Given the description of an element on the screen output the (x, y) to click on. 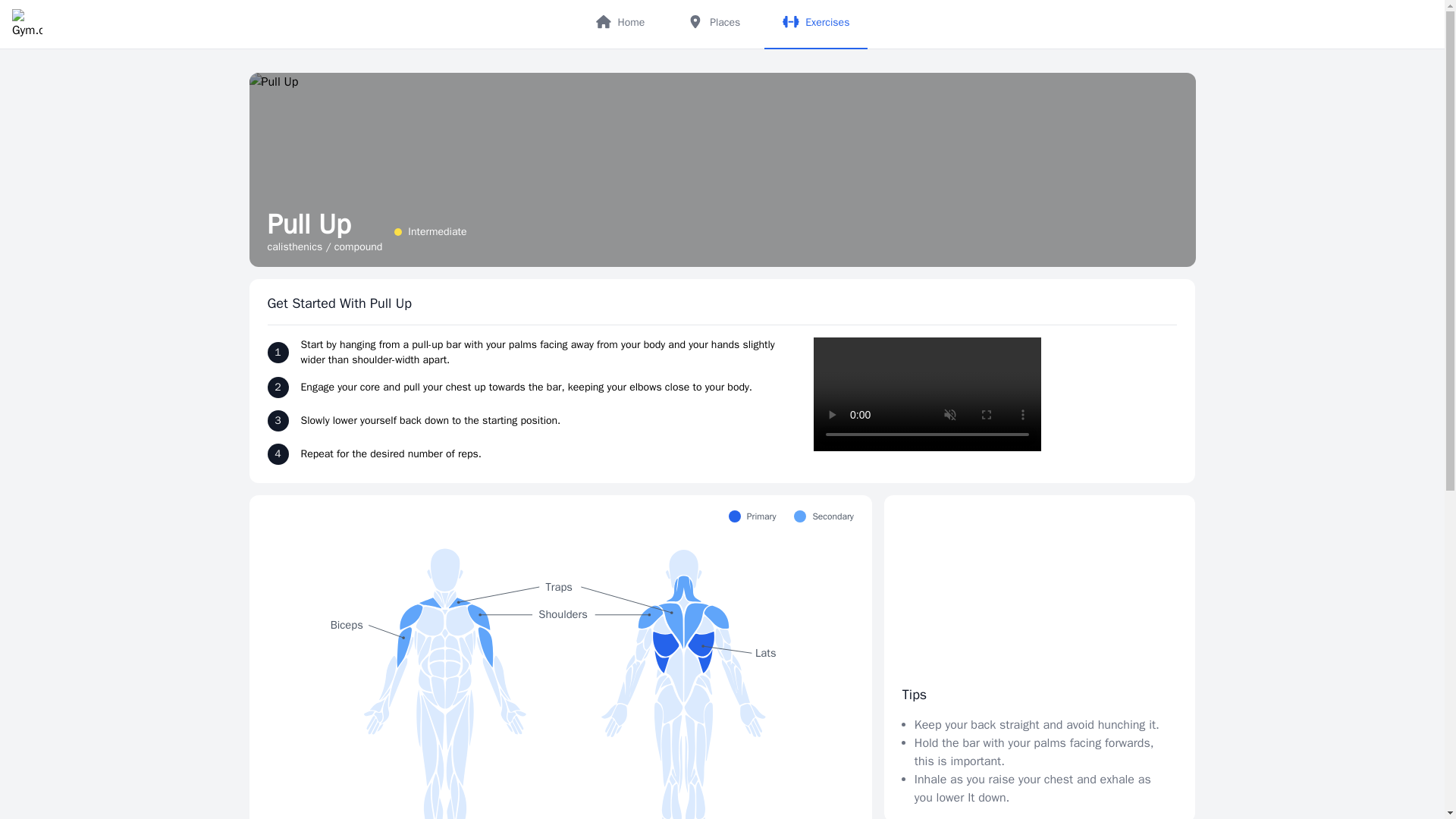
Home (619, 24)
Exercises (815, 24)
